Given the description of an element on the screen output the (x, y) to click on. 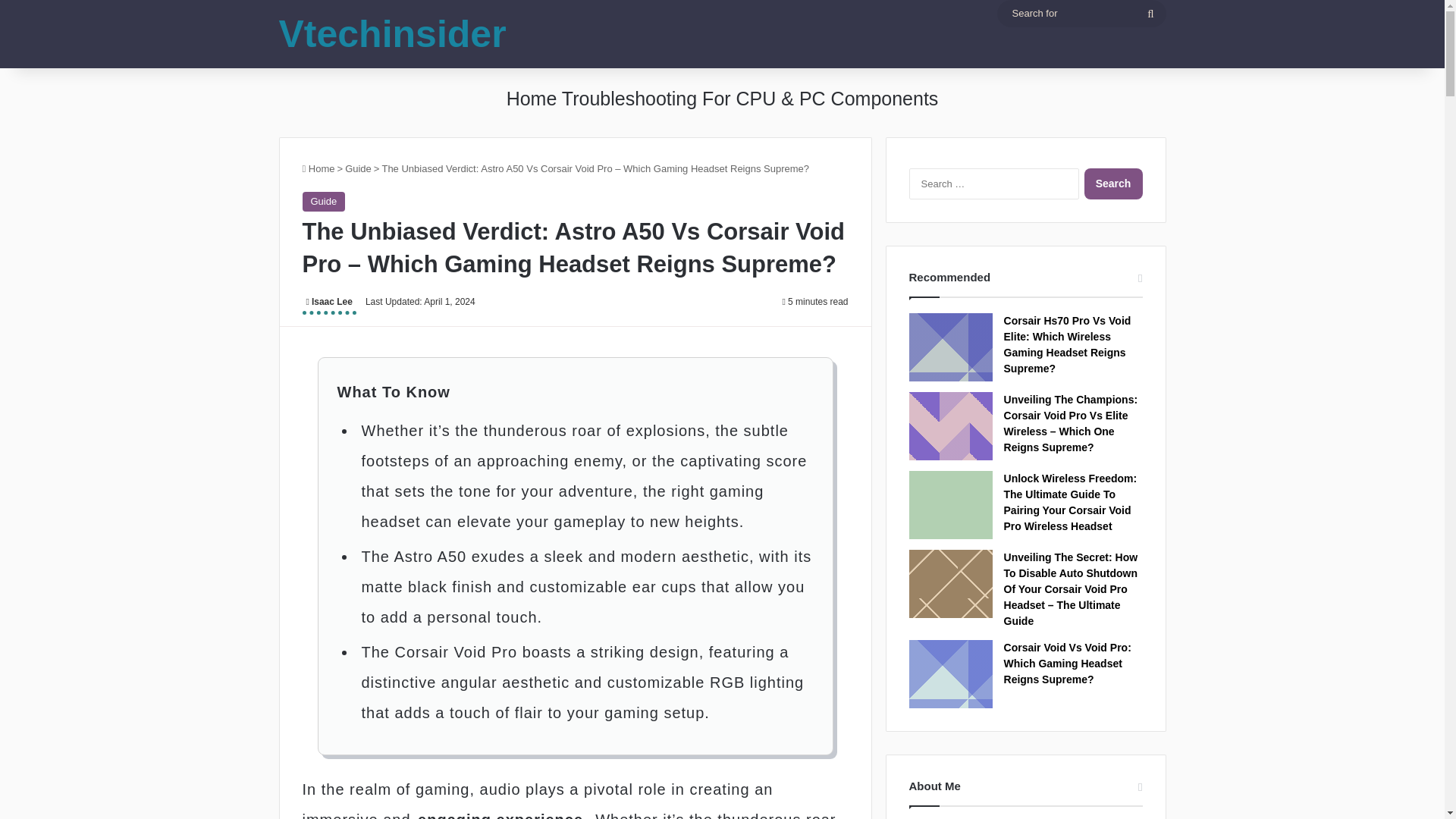
Guide (323, 201)
Isaac Lee (328, 303)
Search for (1080, 13)
Guide (358, 168)
Home (317, 168)
Search for (1150, 13)
Vtechinsider (392, 34)
Search (1113, 183)
Search (1113, 183)
Isaac Lee (328, 303)
